Given the description of an element on the screen output the (x, y) to click on. 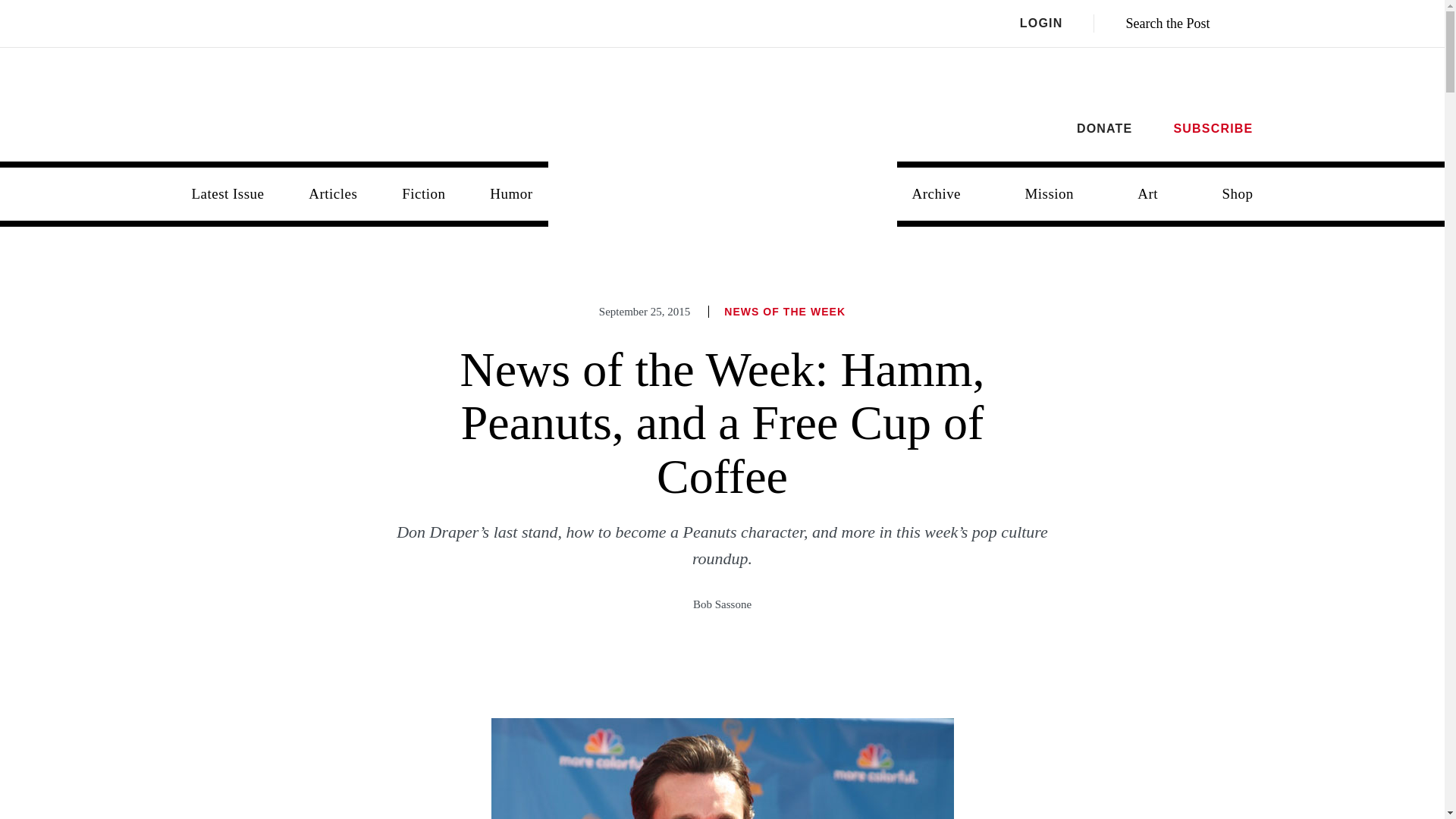
Latest Issue (227, 193)
Articles (333, 193)
Bob Sassone (722, 604)
Humor (510, 193)
DONATE (1104, 128)
Mission (1049, 193)
The Saturday Evening Post (722, 181)
LOGIN (1057, 23)
Art (1147, 193)
Posts by Bob Sassone (722, 604)
